Given the description of an element on the screen output the (x, y) to click on. 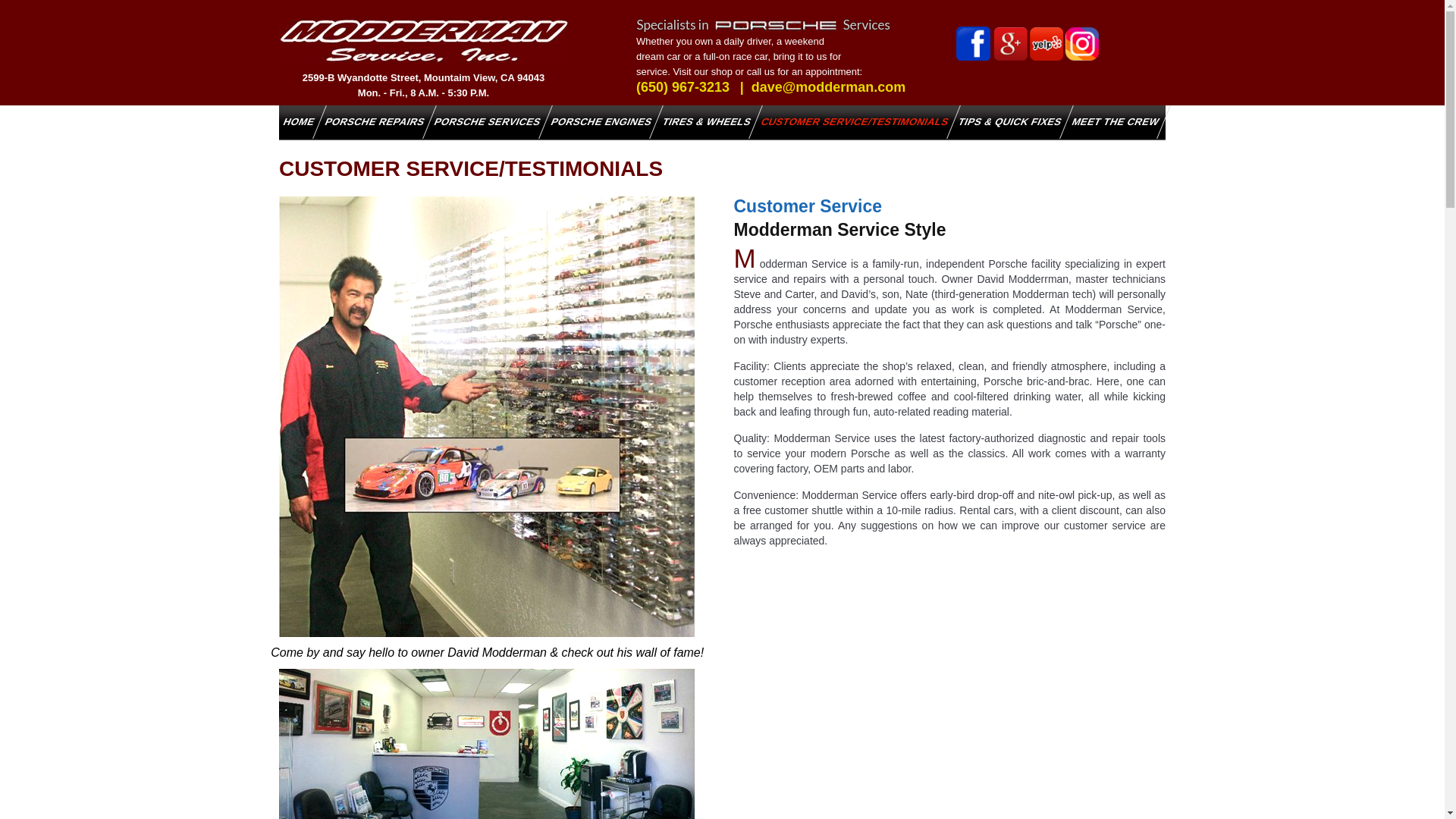
MEET THE CREW (1108, 121)
PORSCHE ENGINES (594, 121)
PORSCHE REPAIRS (368, 121)
HOME (292, 121)
PORSCHE SERVICES (480, 121)
